Given the description of an element on the screen output the (x, y) to click on. 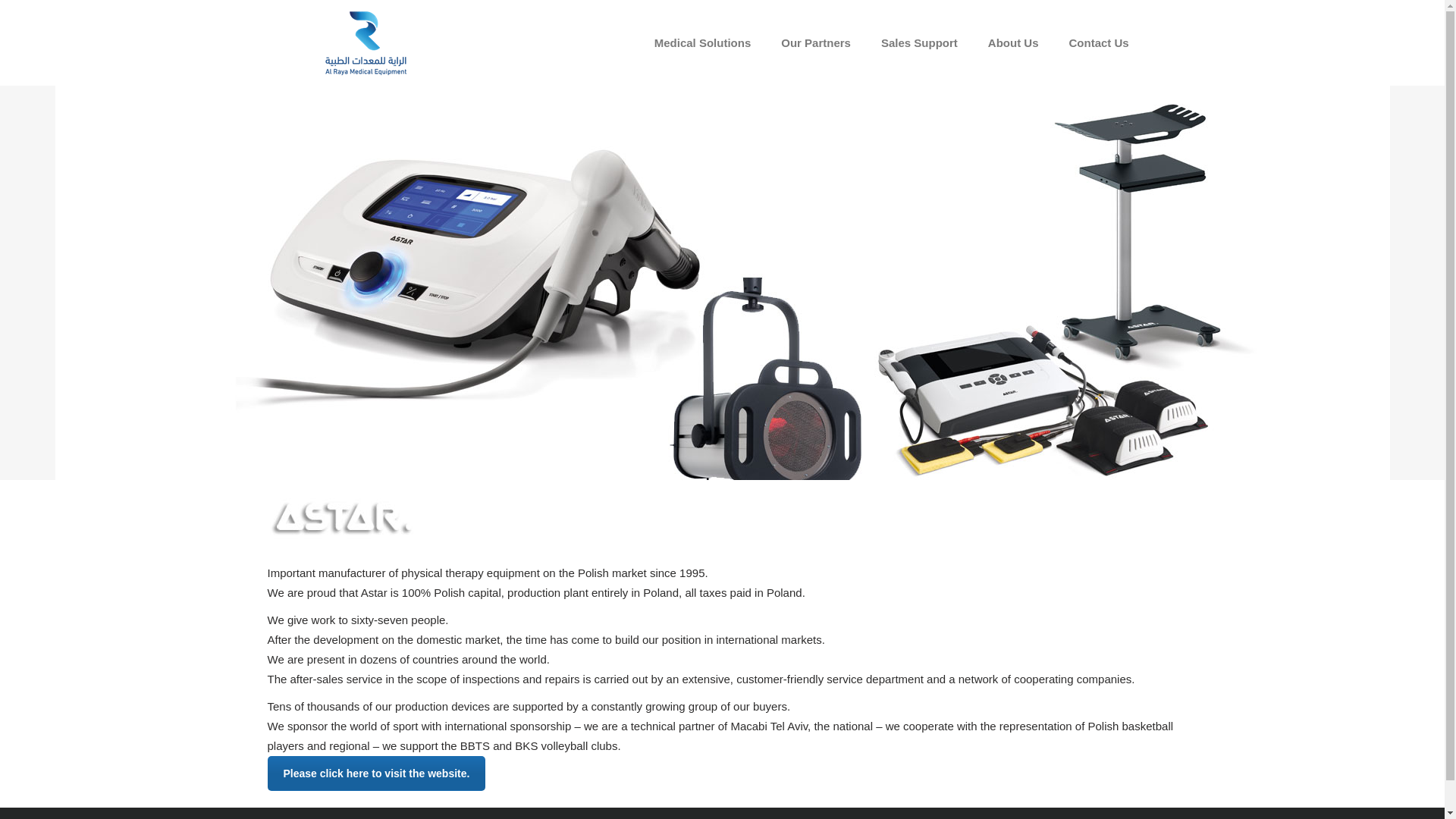
About Us (1013, 42)
Please click here to visit the website. (375, 773)
Sales Support (919, 42)
Contact Us (1097, 42)
Our Partners (815, 42)
Medical Solutions (703, 42)
